Given the description of an element on the screen output the (x, y) to click on. 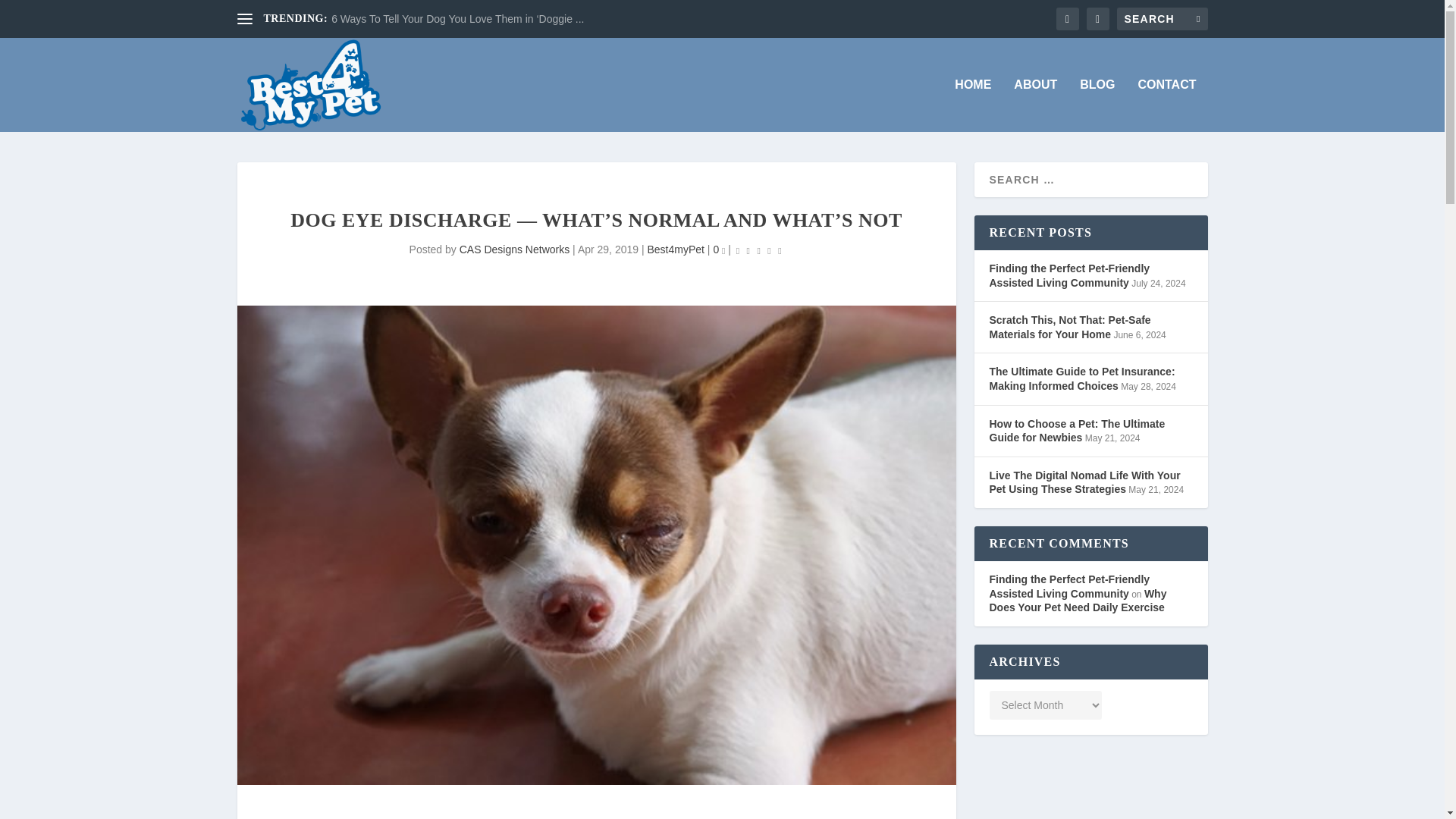
Posts by CAS Designs Networks (515, 249)
Rating: 0.00 (758, 250)
0 (719, 249)
CONTACT (1166, 104)
Dogster (796, 818)
CAS Designs Networks (515, 249)
Search for: (1161, 18)
Best4myPet (674, 249)
Jackie Brown (645, 818)
